Given the description of an element on the screen output the (x, y) to click on. 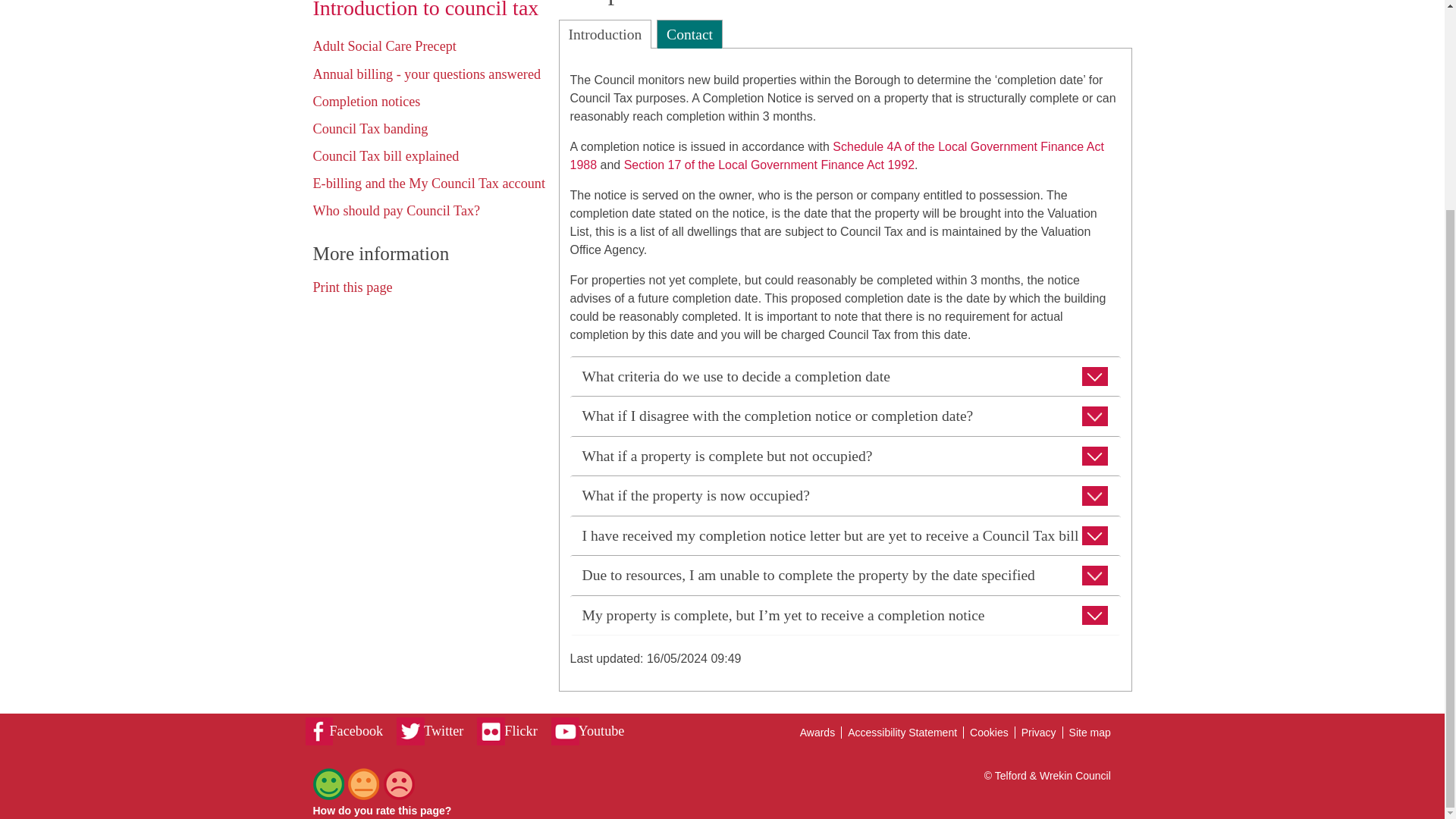
To view legislation for completion notices (769, 164)
View completion notice legislation  (836, 155)
